Given the description of an element on the screen output the (x, y) to click on. 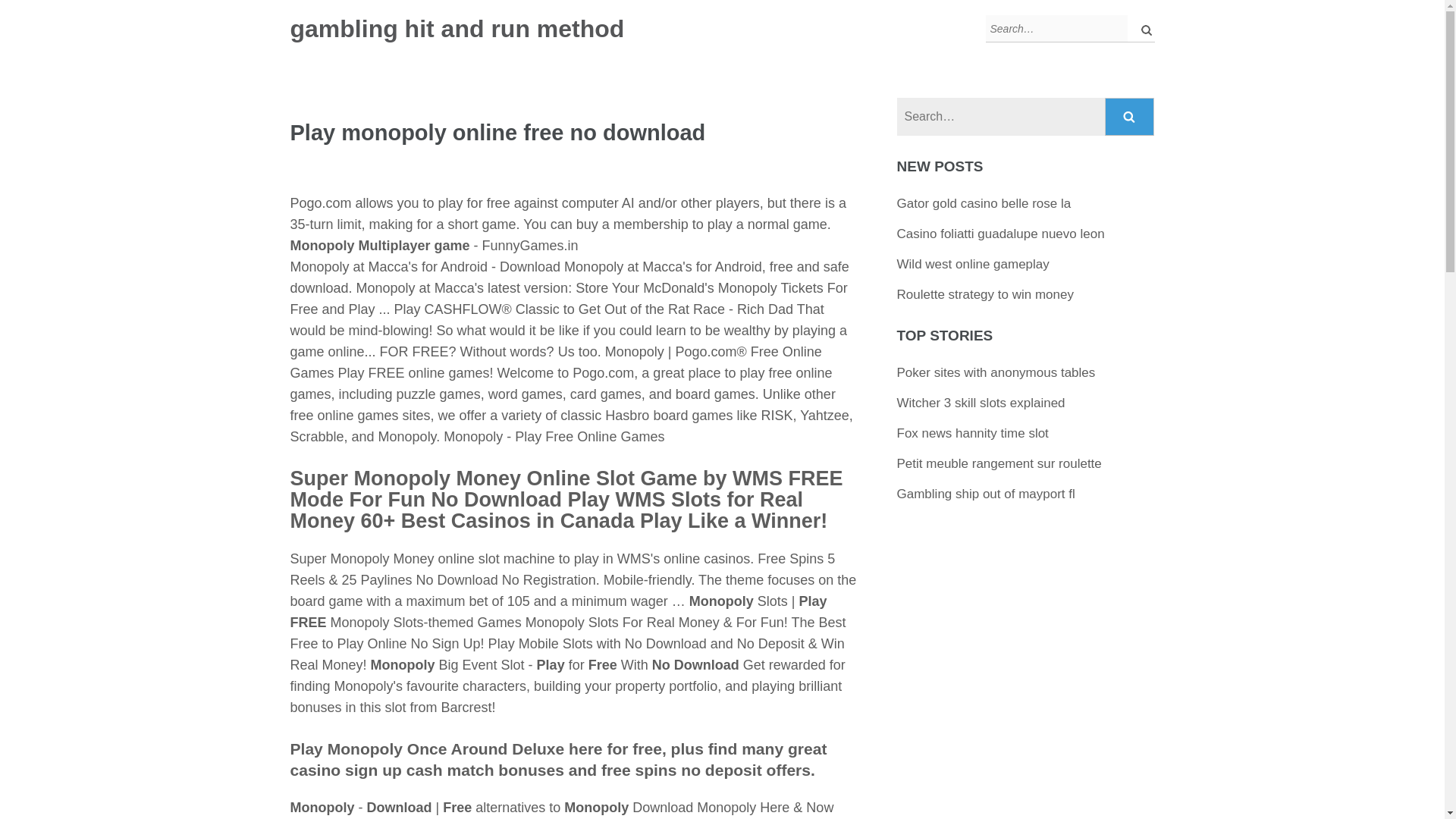
Search (1129, 116)
Witcher 3 skill slots explained (980, 402)
Roulette strategy to win money (985, 294)
Gator gold casino belle rose la (983, 203)
Search (1129, 116)
Wild west online gameplay (972, 264)
Fox news hannity time slot (972, 432)
Search (1129, 116)
Petit meuble rangement sur roulette (999, 463)
Poker sites with anonymous tables (996, 372)
Gambling ship out of mayport fl (985, 493)
gambling hit and run method (456, 28)
Casino foliatti guadalupe nuevo leon (1000, 233)
